Given the description of an element on the screen output the (x, y) to click on. 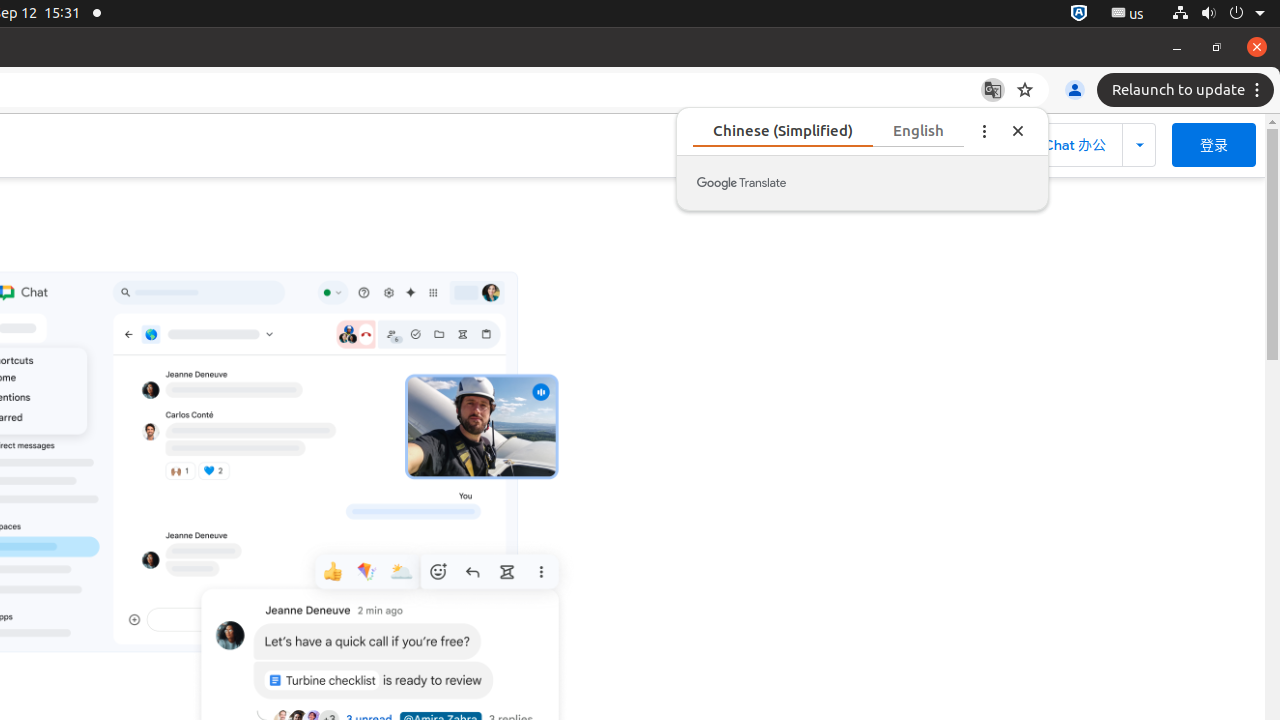
:1.72/StatusNotifierItem Element type: menu (1079, 13)
Chinese (Simplified) Element type: page-tab-list (828, 130)
